Given the description of an element on the screen output the (x, y) to click on. 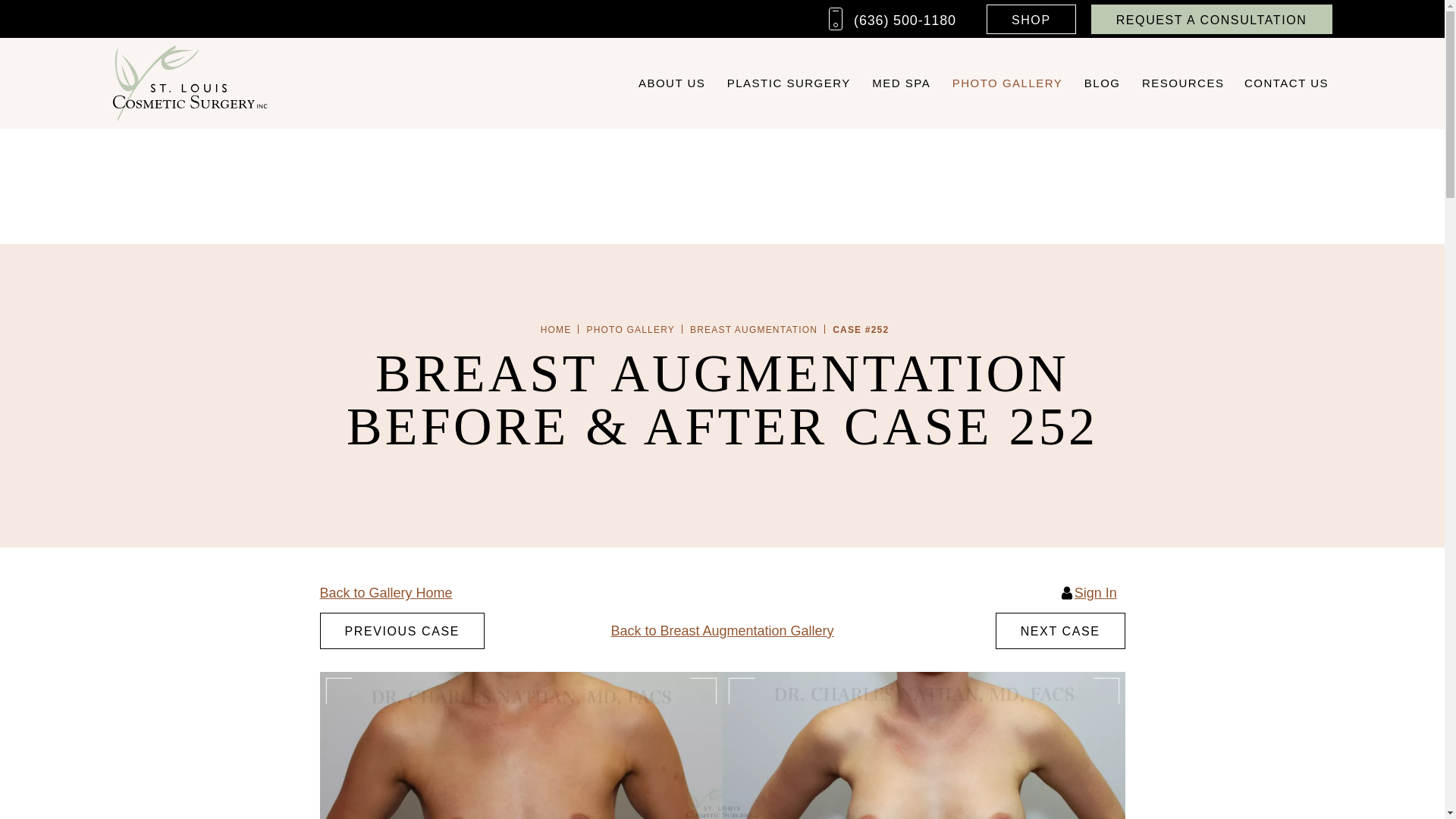
PLASTIC SURGERY (788, 82)
Go to Breast Augmentation. (753, 329)
REQUEST A CONSULTATION (1211, 19)
Go to Photo Gallery. (630, 329)
SHOP (1031, 19)
